Given the description of an element on the screen output the (x, y) to click on. 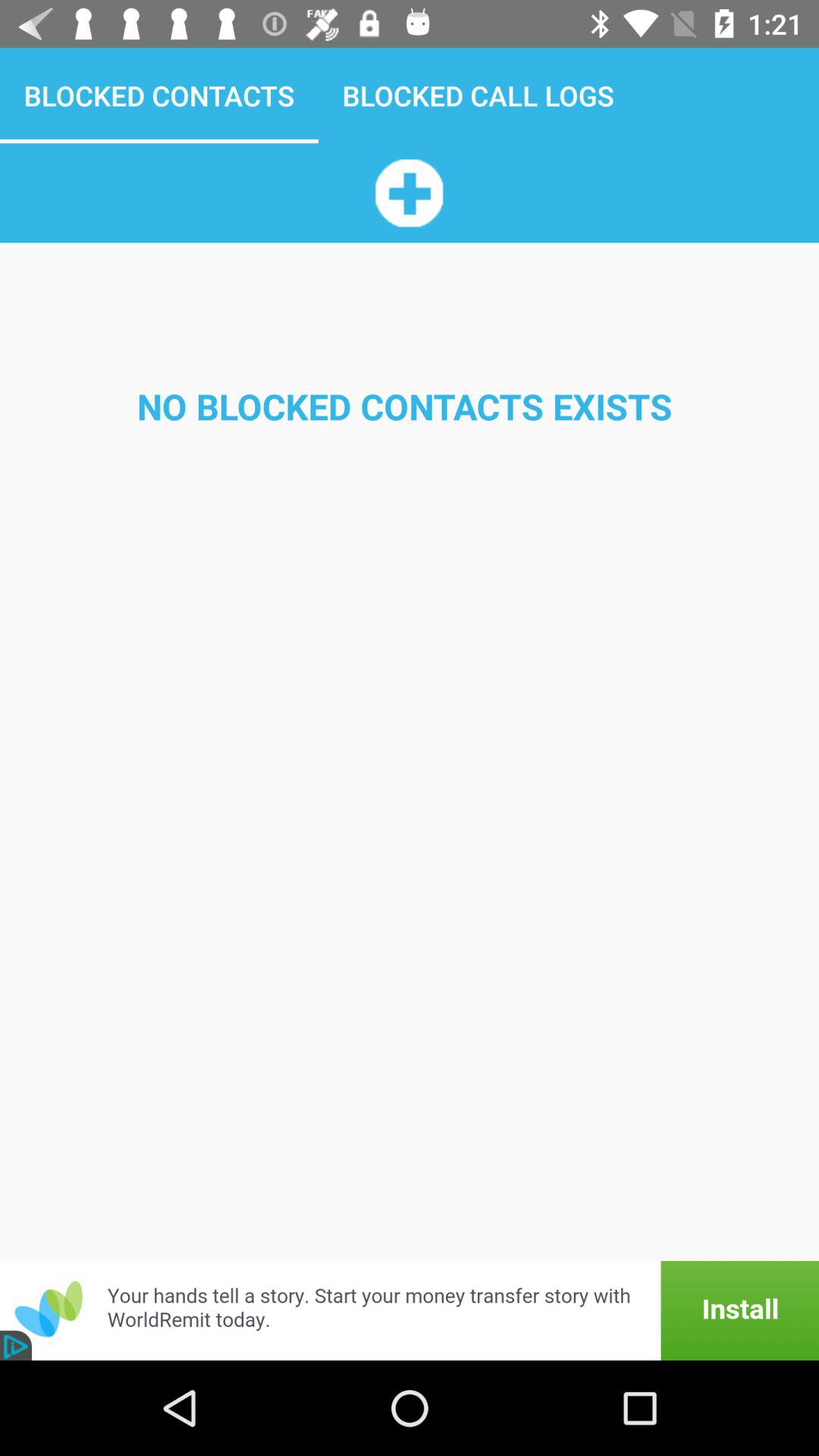
choose item below no blocked contacts (409, 1310)
